Given the description of an element on the screen output the (x, y) to click on. 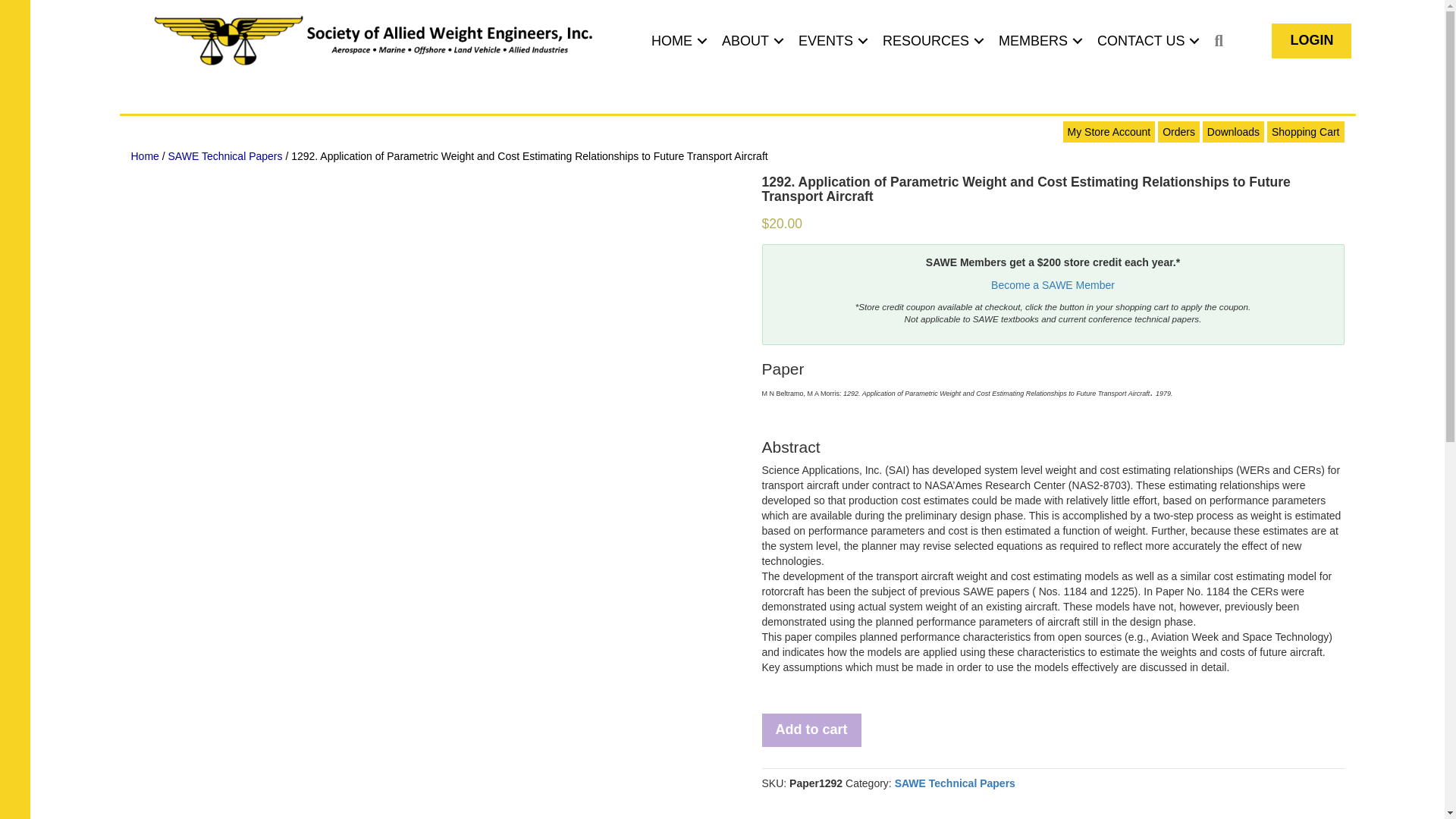
HOME (676, 40)
RESOURCES (930, 40)
EVENTS (830, 40)
ABOUT (751, 40)
